Given the description of an element on the screen output the (x, y) to click on. 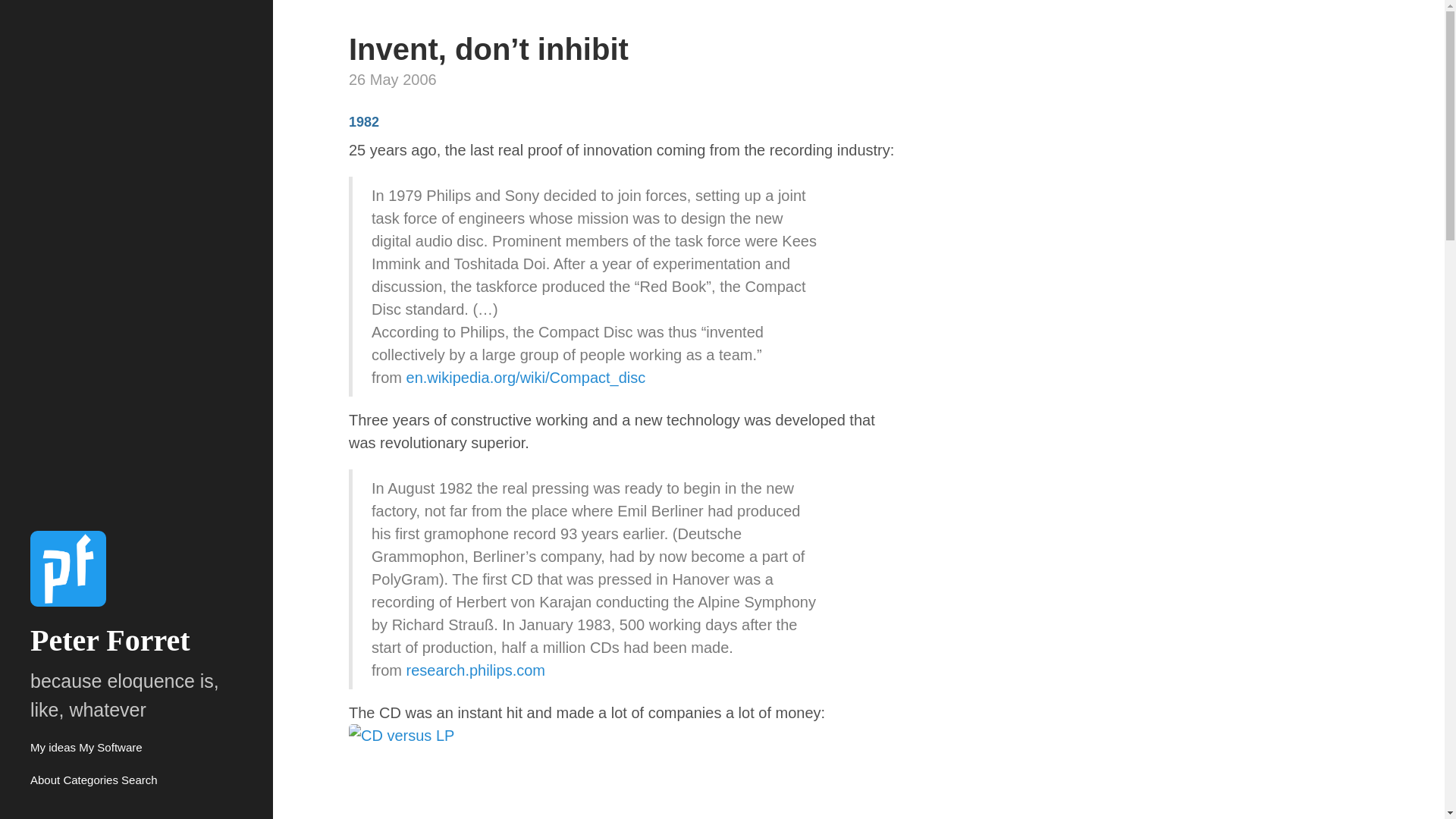
Categories (89, 779)
Photo Sharing (622, 771)
Peter Forret (110, 640)
research.philips.com (475, 669)
My Software (109, 747)
Search (138, 779)
My ideas (52, 747)
About (44, 779)
